Given the description of an element on the screen output the (x, y) to click on. 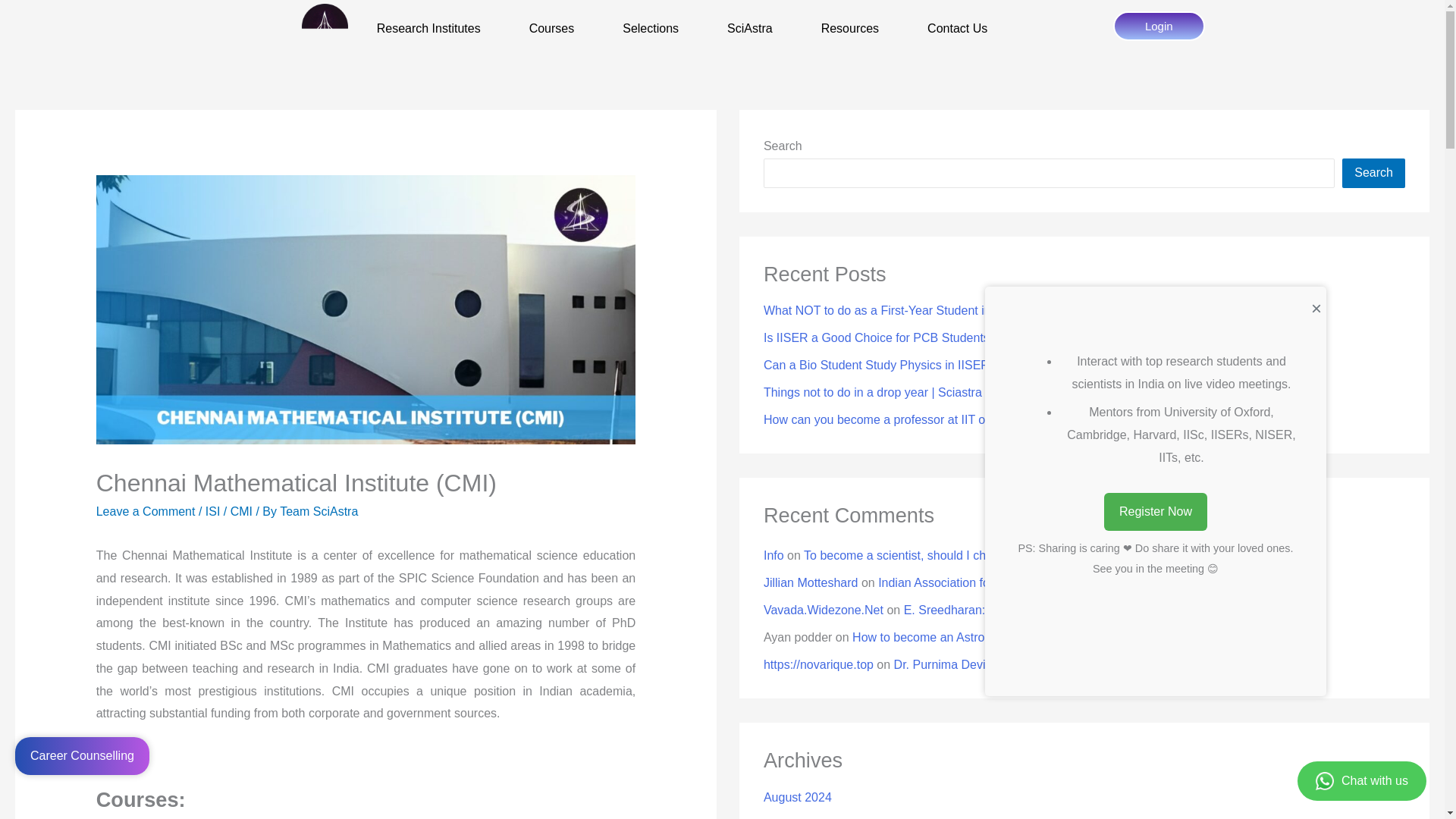
Courses (552, 28)
Selections (650, 28)
Career Counselling (81, 755)
Chat with us (1361, 780)
View all posts by Team SciAstra (318, 511)
Contact Us (957, 28)
SciAstra (750, 28)
Resources (849, 28)
Register Now (1155, 511)
Research Institutes (428, 28)
